Given the description of an element on the screen output the (x, y) to click on. 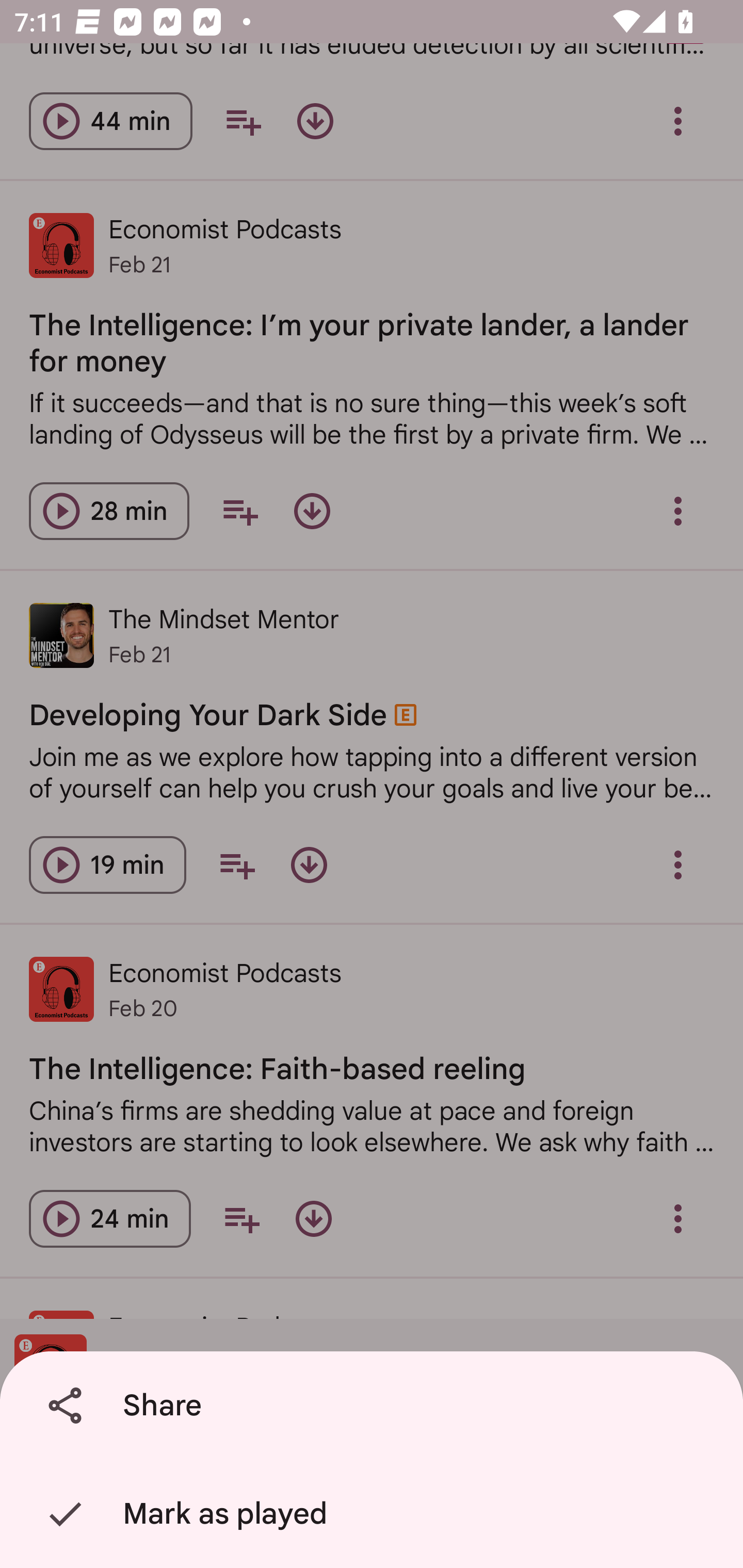
Share (375, 1405)
Mark as played (375, 1513)
